Given the description of an element on the screen output the (x, y) to click on. 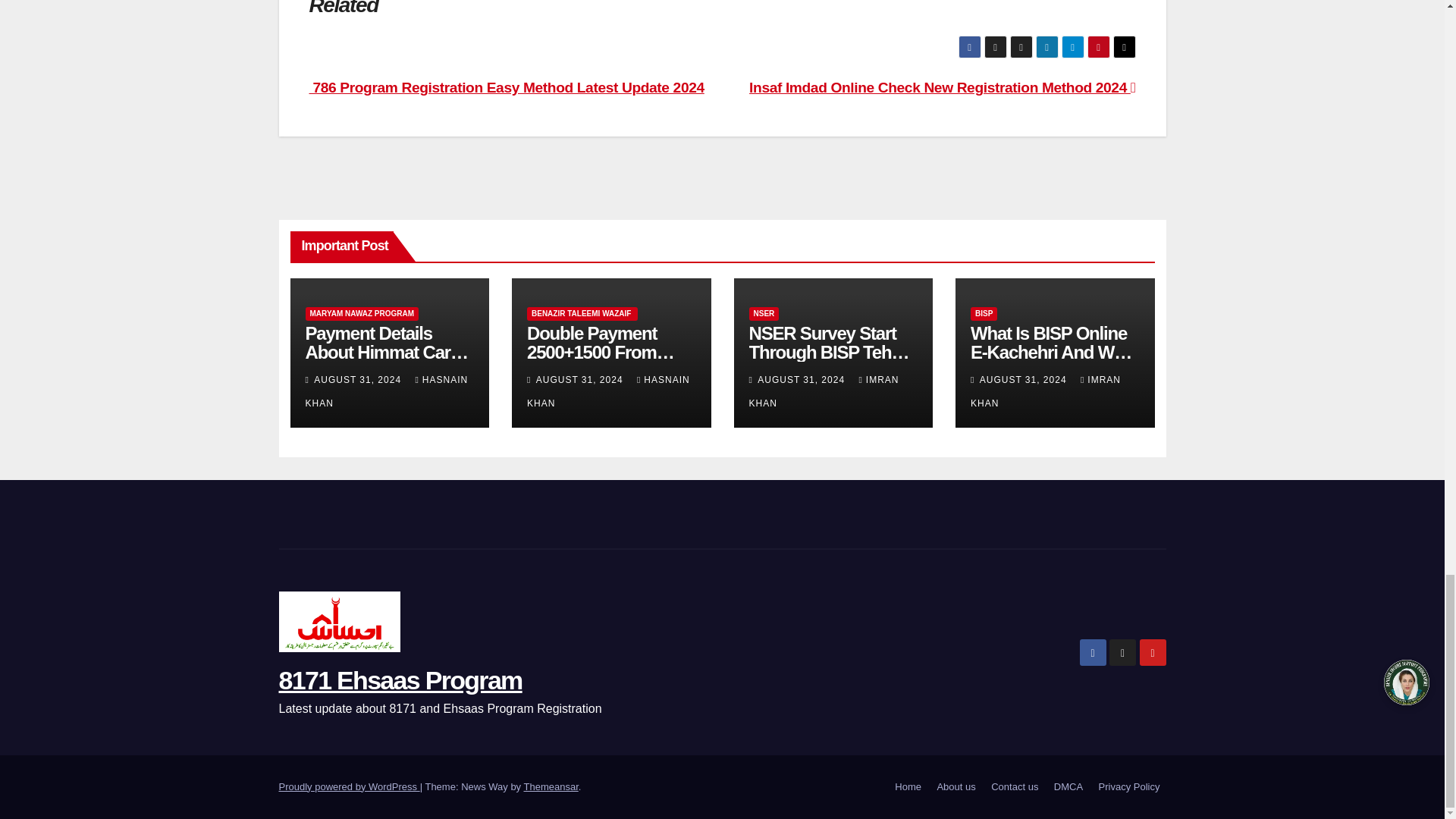
Privacy Policy (1129, 786)
Insaf Imdad Online Check New Registration Method 2024 (942, 87)
Contact us (1014, 786)
BENAZIR TALEEMI WAZAIF  (582, 314)
About us (955, 786)
DMCA (1068, 786)
AUGUST 31, 2024 (359, 379)
AUGUST 31, 2024 (580, 379)
MARYAM NAWAZ PROGRAM (361, 314)
